Given the description of an element on the screen output the (x, y) to click on. 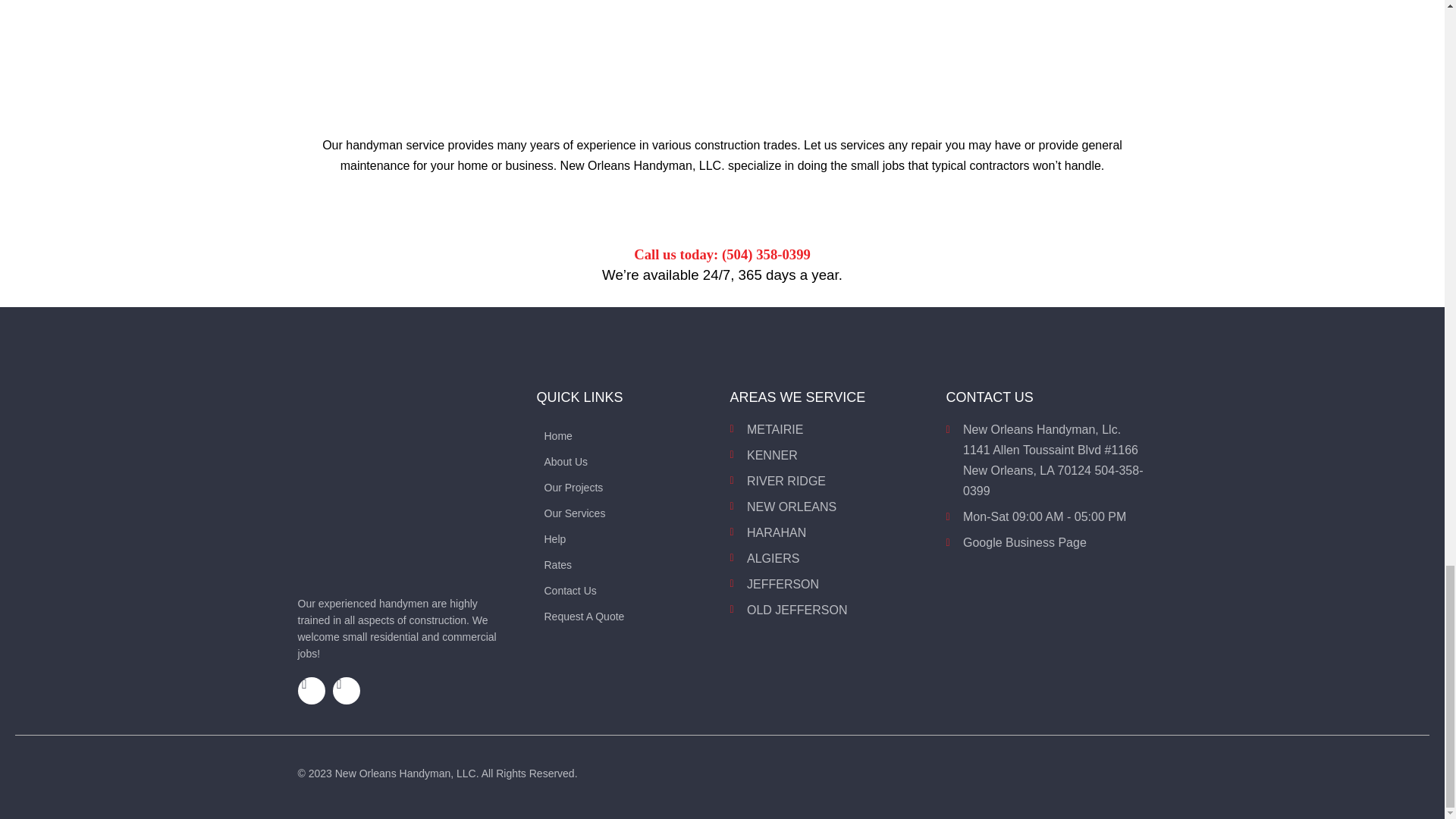
RIVER RIDGE (829, 480)
Contact Us (625, 586)
KENNER (829, 455)
Our Projects (625, 483)
Help (625, 534)
Rates (625, 560)
NEW ORLEANS (829, 506)
Request A Quote (625, 612)
Our Services (625, 509)
Home (625, 432)
About Us (625, 457)
METAIRIE (829, 429)
